Given the description of an element on the screen output the (x, y) to click on. 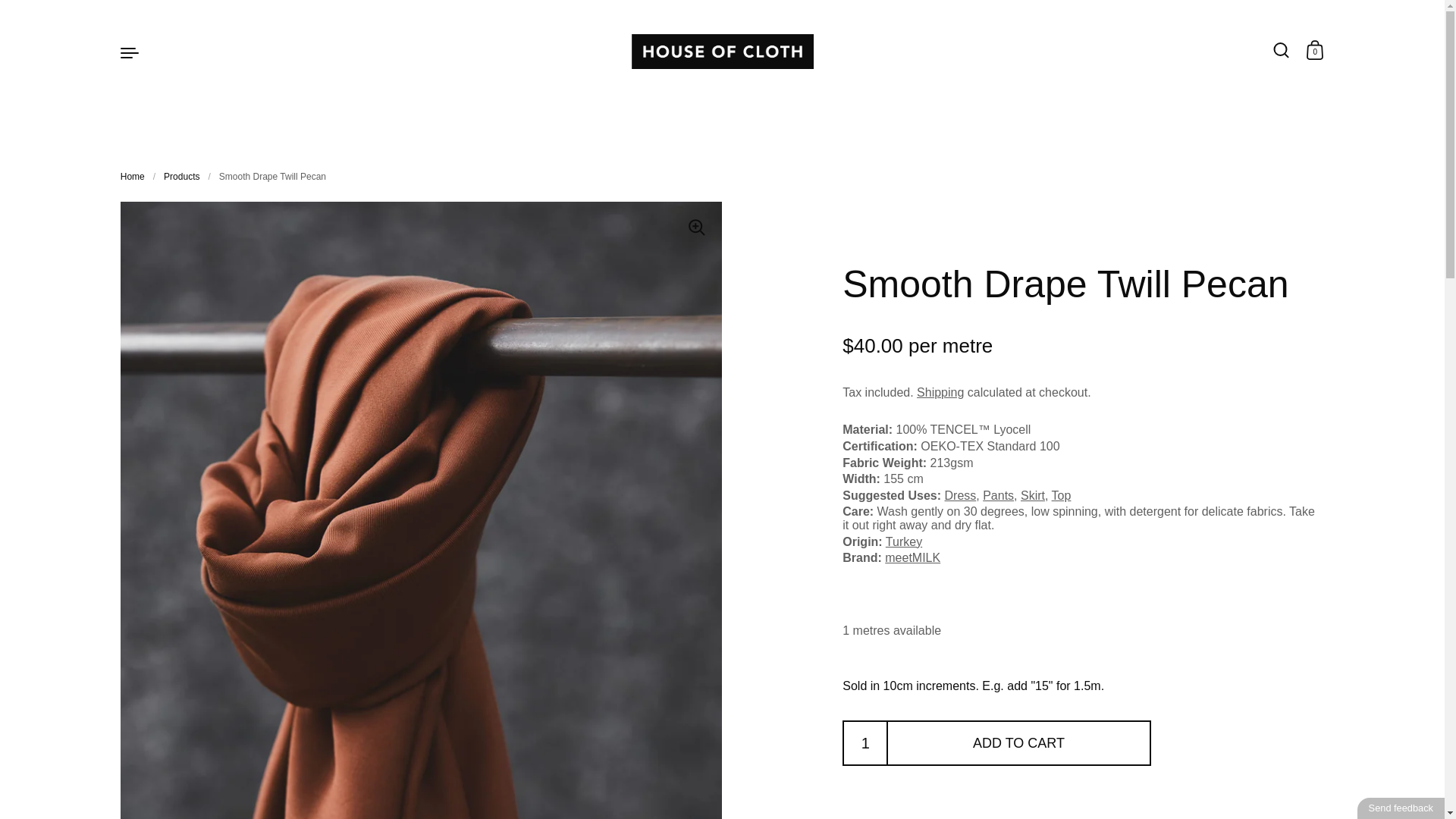
Products (181, 176)
Search products by meetMILK (912, 557)
Pants (997, 495)
House of Cloth (721, 51)
Home (132, 176)
Search products from Turkey (903, 541)
1 (865, 742)
0 (1315, 51)
Dress (960, 495)
